Given the description of an element on the screen output the (x, y) to click on. 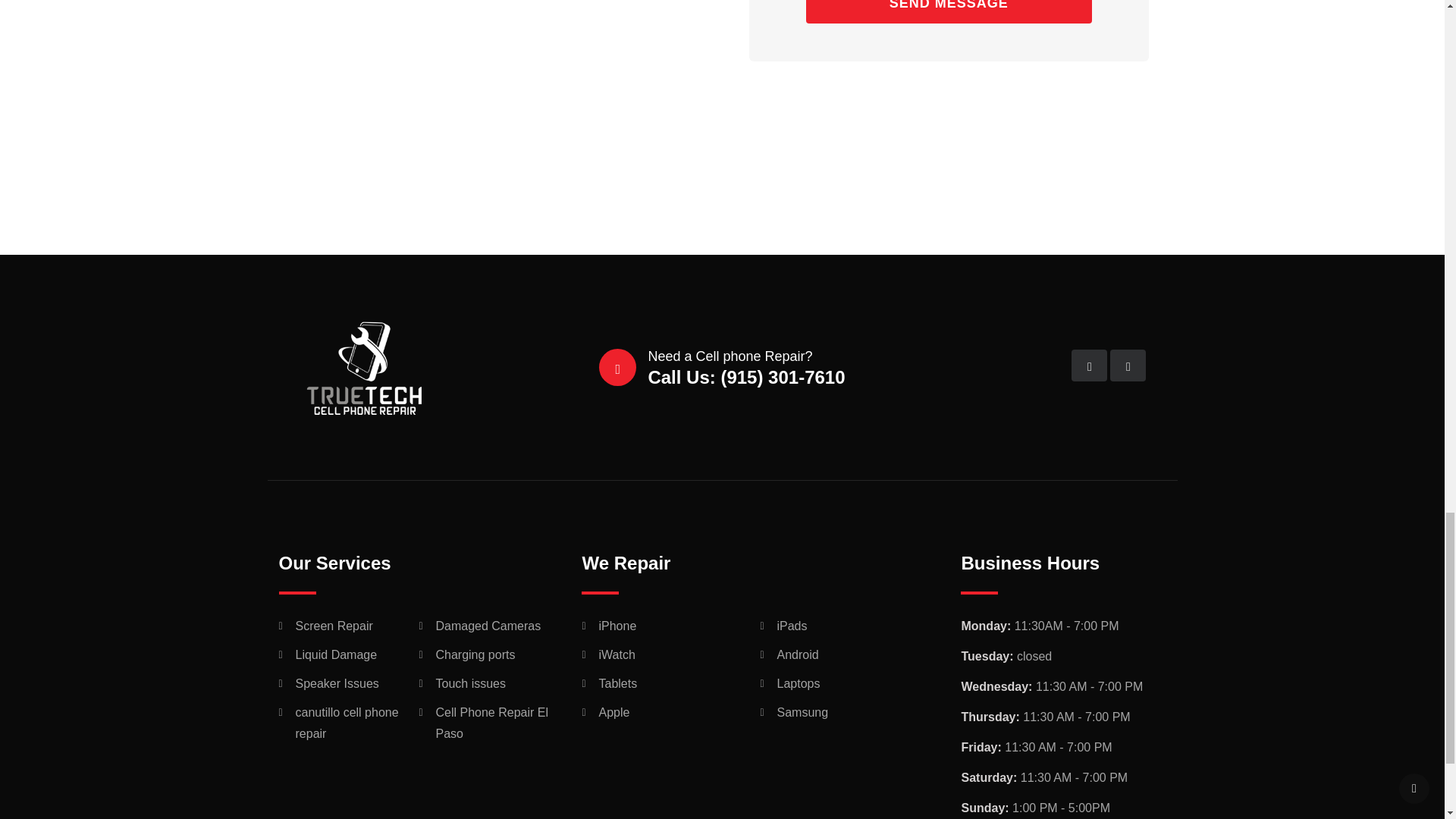
Liquid Damage (336, 654)
Screen Repair (333, 625)
Speaker Issues (336, 683)
Damaged Cameras (487, 625)
canutillo cell phone repair (346, 722)
iPhone (617, 625)
Charging ports (475, 654)
Android (797, 654)
Tablets (617, 683)
SEND MESSAGE (949, 11)
Touch issues (470, 683)
iWatch (616, 654)
Cell Phone Repair El Paso (491, 722)
iPads (791, 625)
SEND MESSAGE (949, 11)
